Given the description of an element on the screen output the (x, y) to click on. 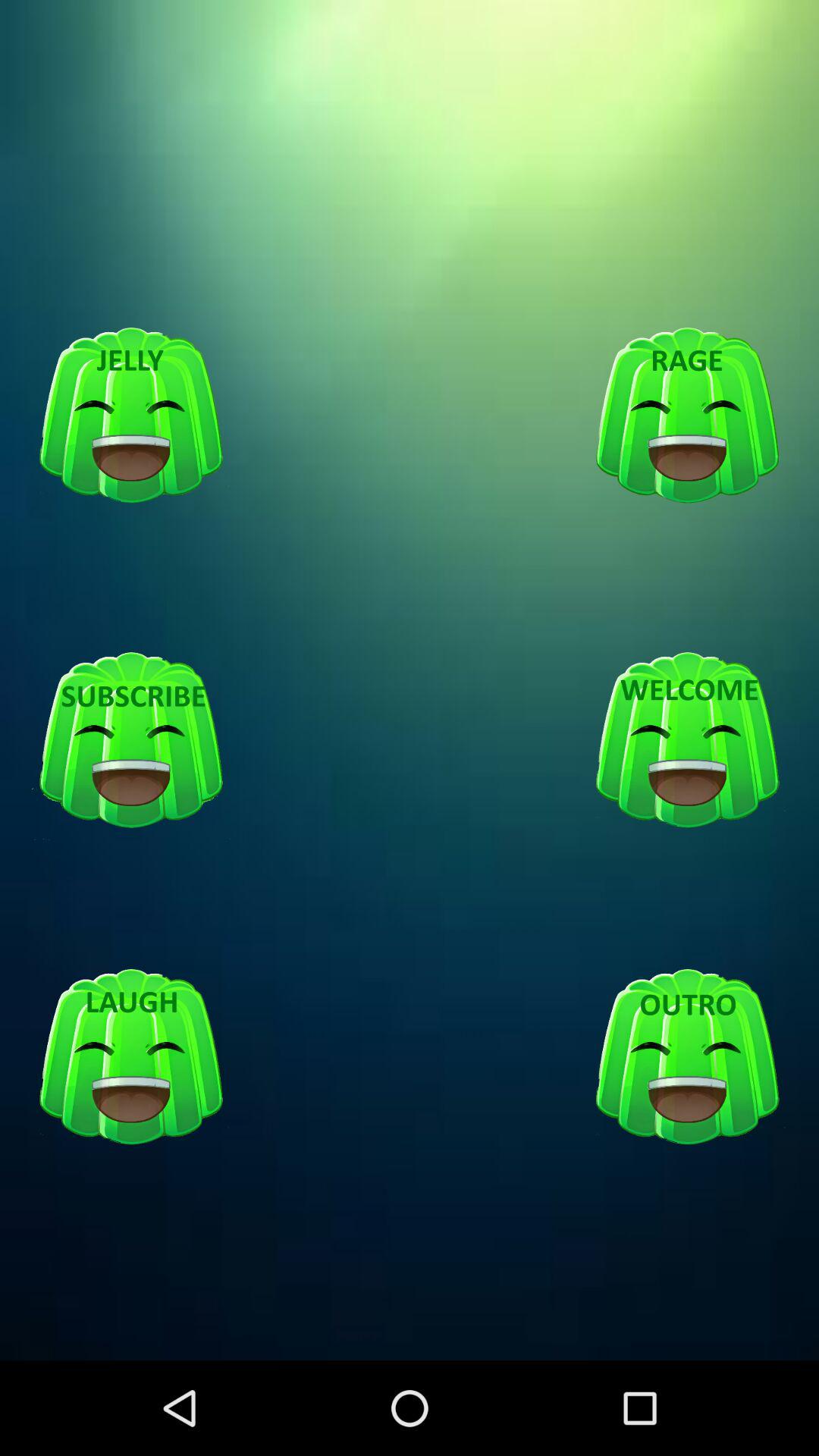
select subcribe (130, 740)
